Given the description of an element on the screen output the (x, y) to click on. 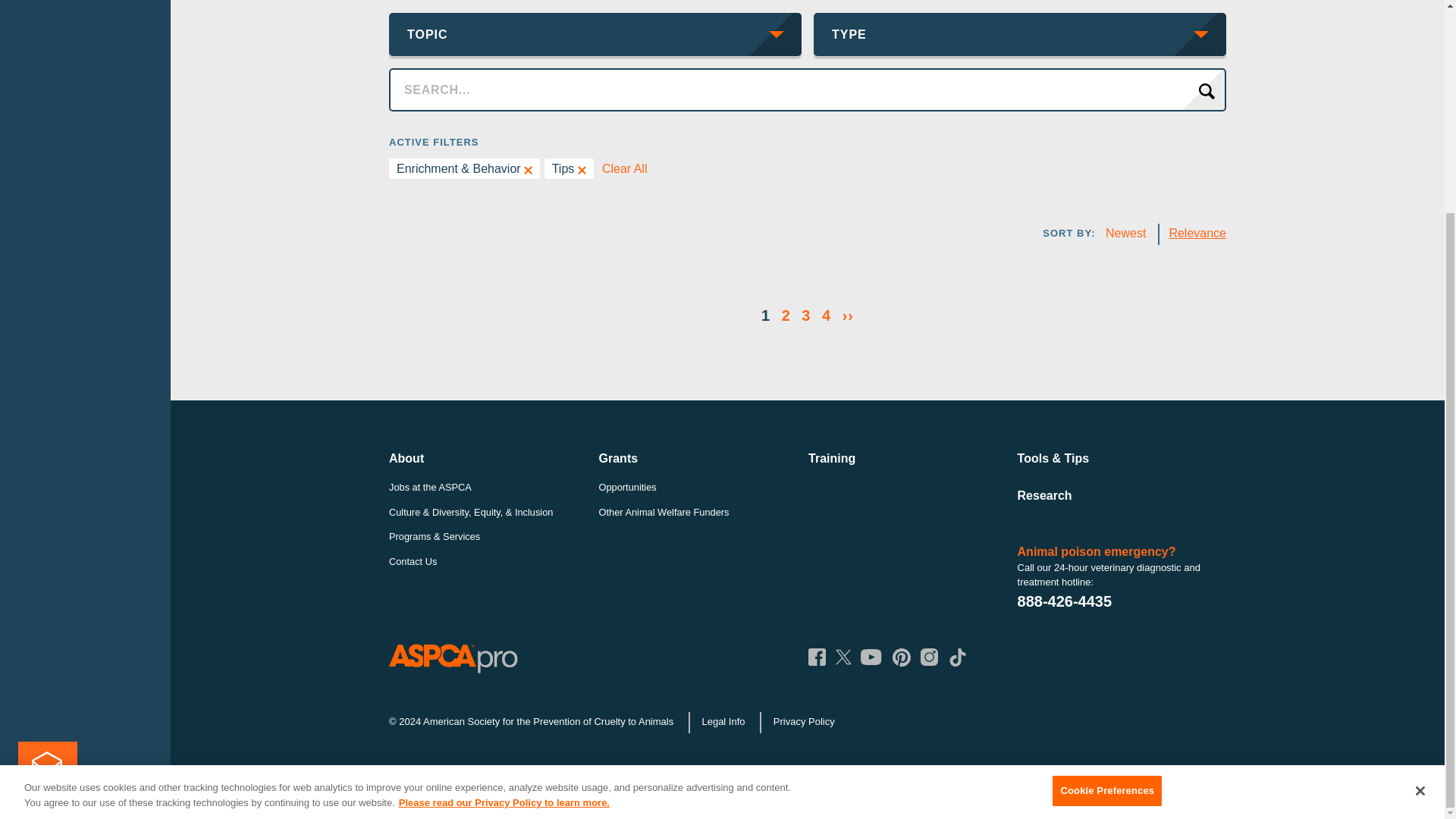
YouTube (871, 657)
Pinterest (901, 657)
Instagram (928, 656)
Twitter (843, 656)
Facebook (816, 656)
